Given the description of an element on the screen output the (x, y) to click on. 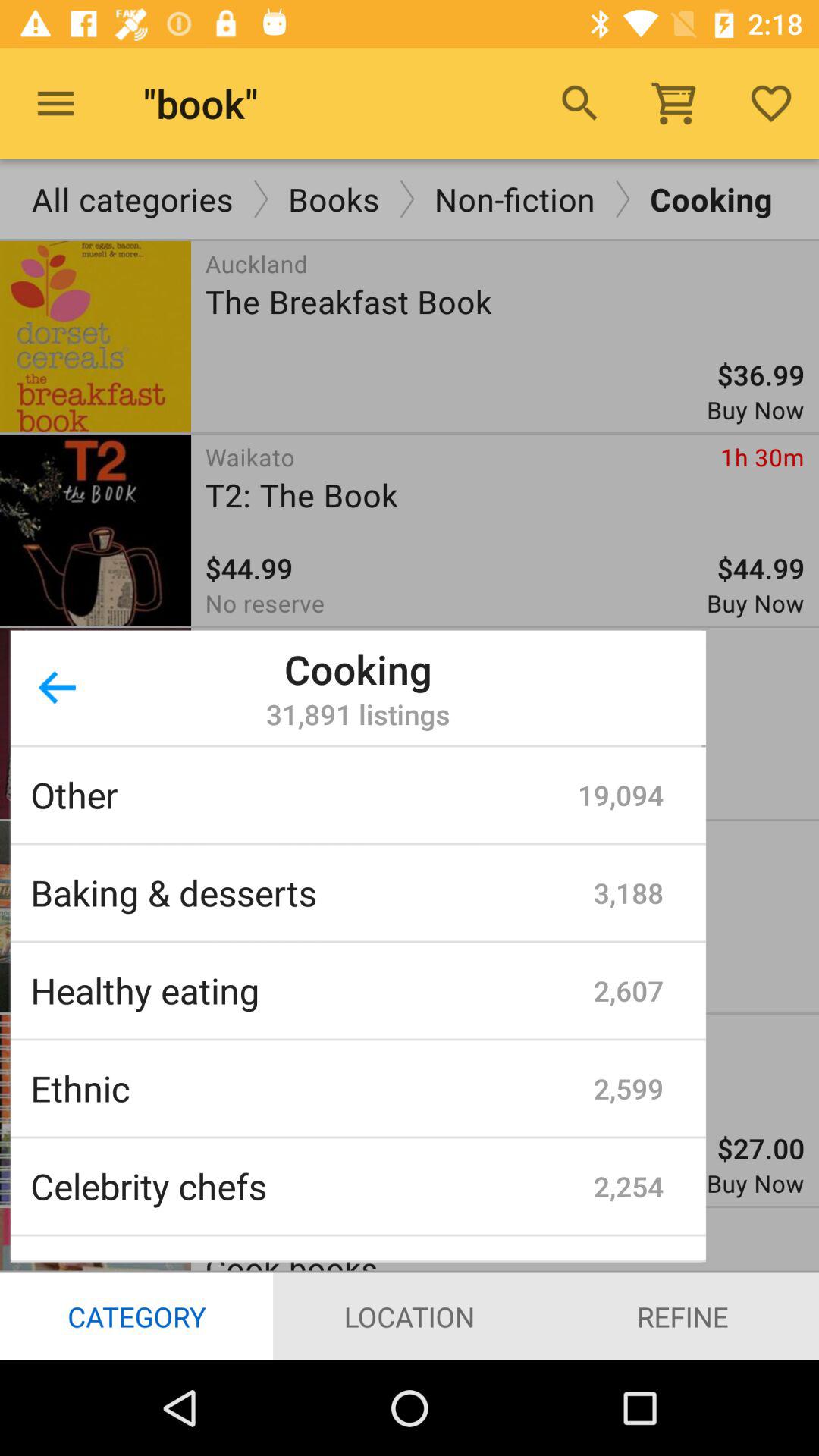
turn off icon next to 2,607 icon (311, 990)
